Given the description of an element on the screen output the (x, y) to click on. 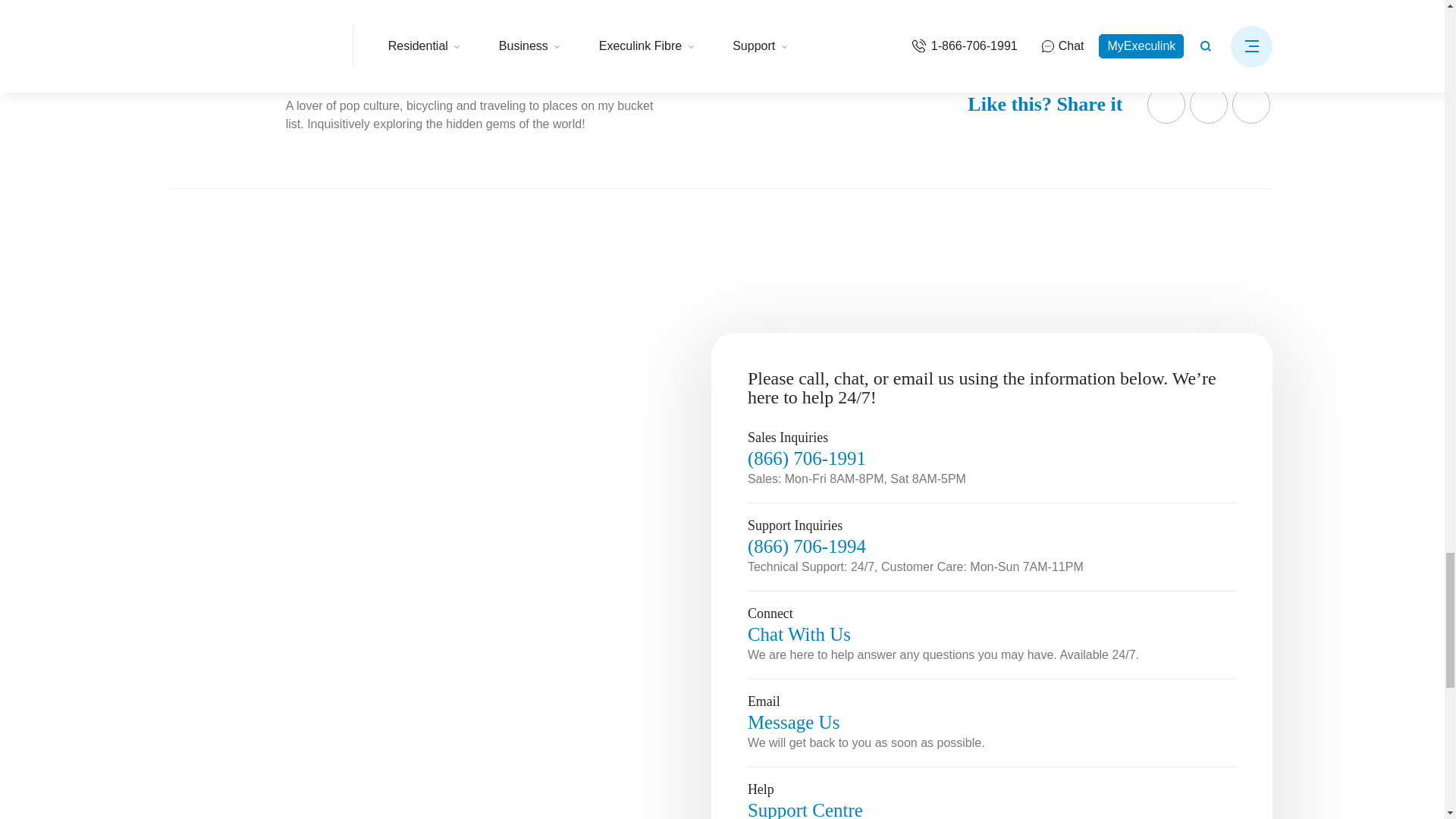
LinkedIn (1250, 104)
Facebook (1166, 104)
Twitter (1208, 104)
